Given the description of an element on the screen output the (x, y) to click on. 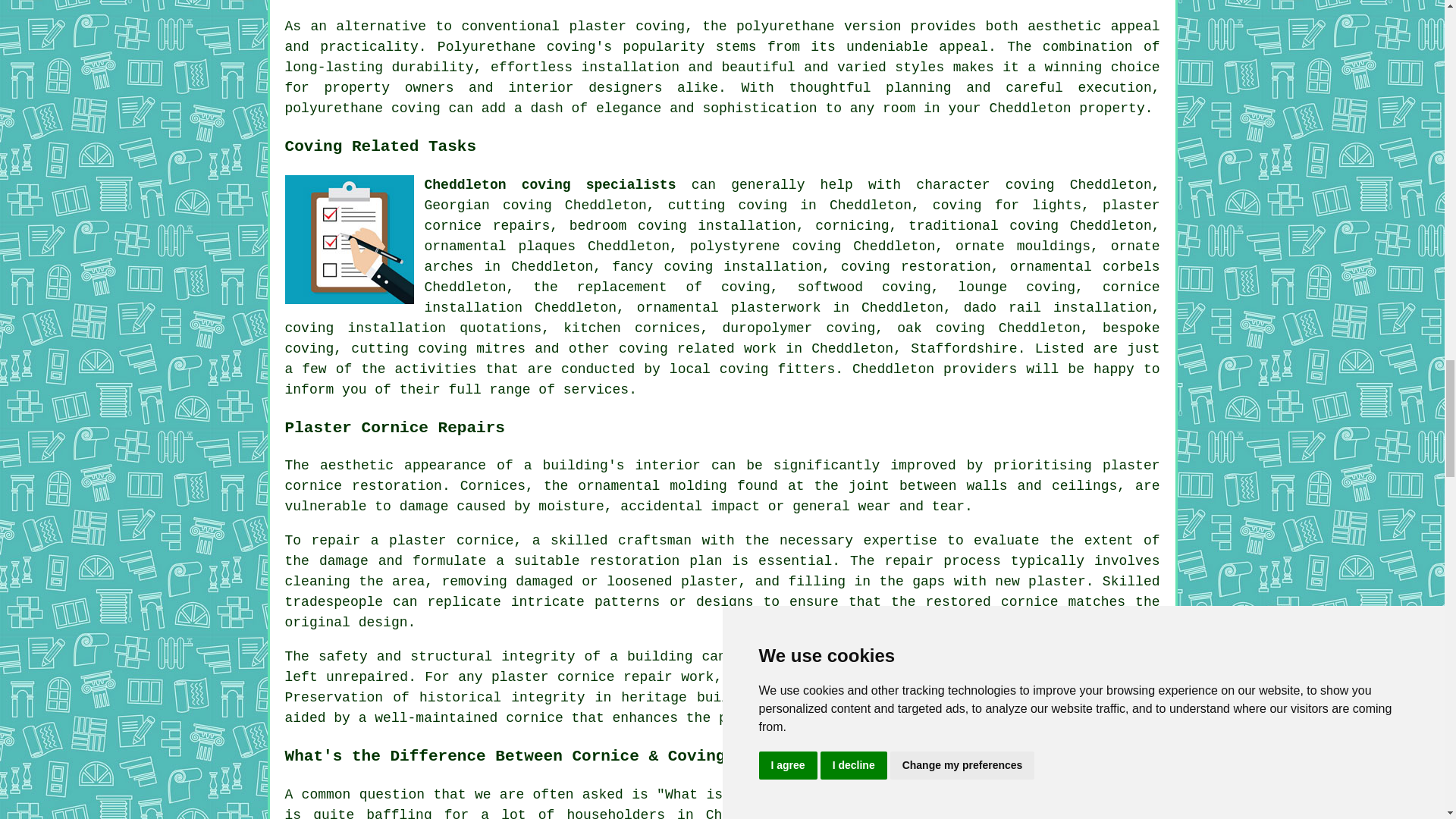
bespoke coving (722, 337)
plaster coving (626, 26)
plaster cornice repairs (792, 214)
plaster cornice repair (582, 676)
Coving Related Tasks Cheddleton (349, 238)
